Given the description of an element on the screen output the (x, y) to click on. 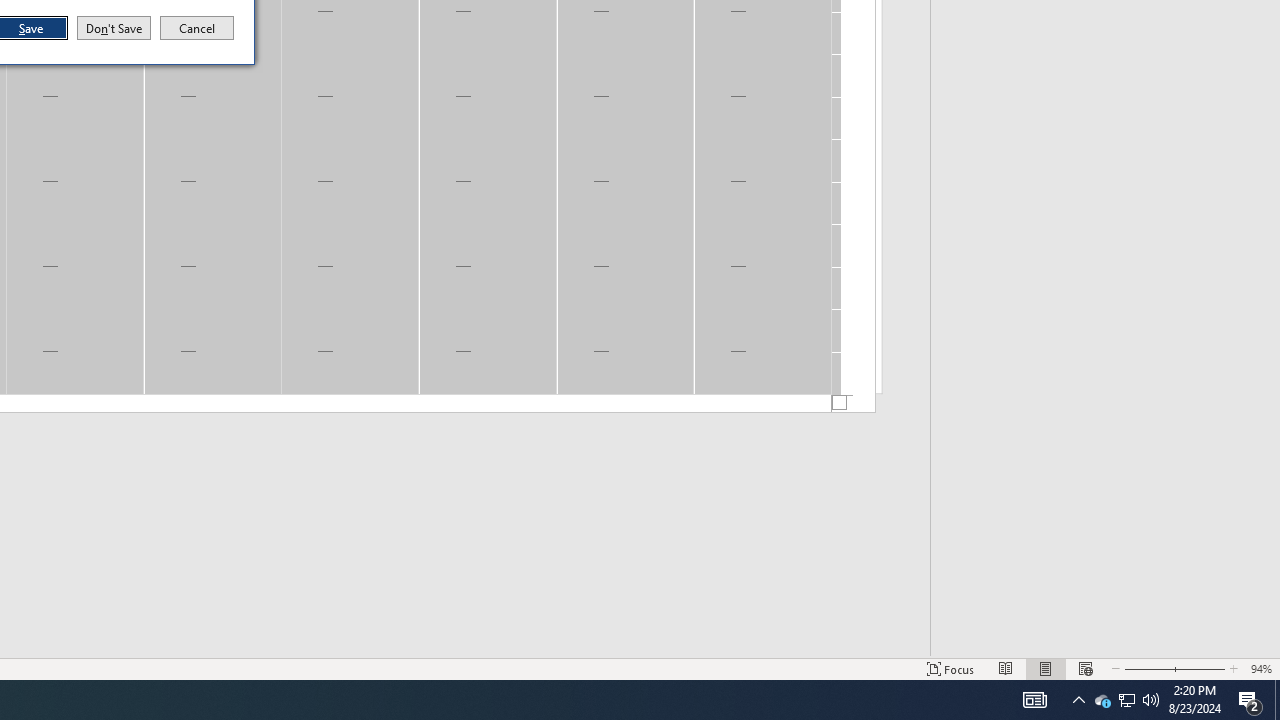
Action Center, 2 new notifications (1126, 699)
Cancel (1250, 699)
